Given the description of an element on the screen output the (x, y) to click on. 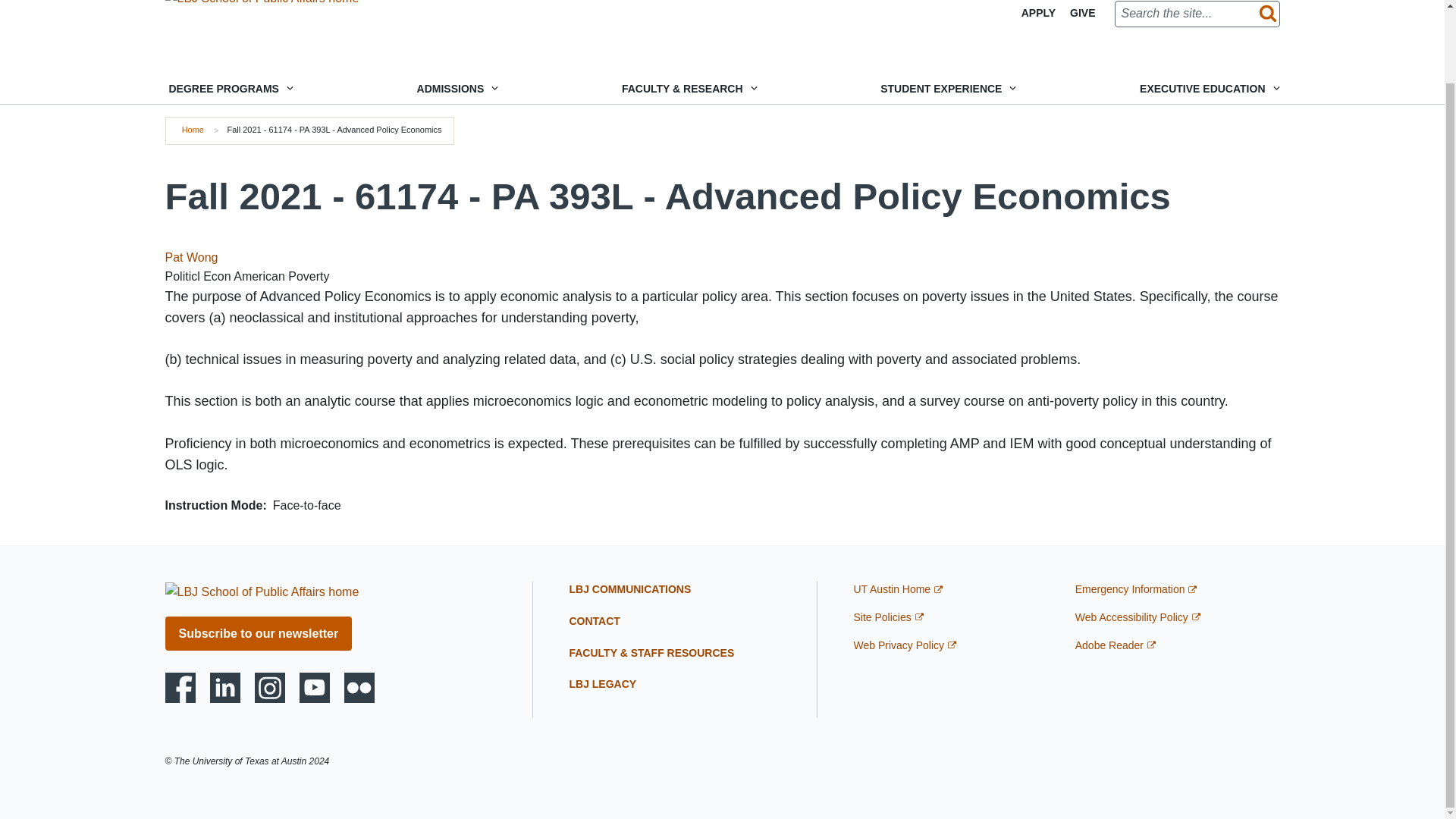
GIVE (1082, 12)
Enter the terms you wish to search for. (1197, 13)
ADMISSIONS (456, 89)
InstagramSee us on Instagram (269, 687)
Home (262, 2)
Search (1264, 13)
YoutubeSee us on Youtube (314, 687)
Home (192, 129)
APPLY (1038, 12)
Home (262, 590)
